Given the description of an element on the screen output the (x, y) to click on. 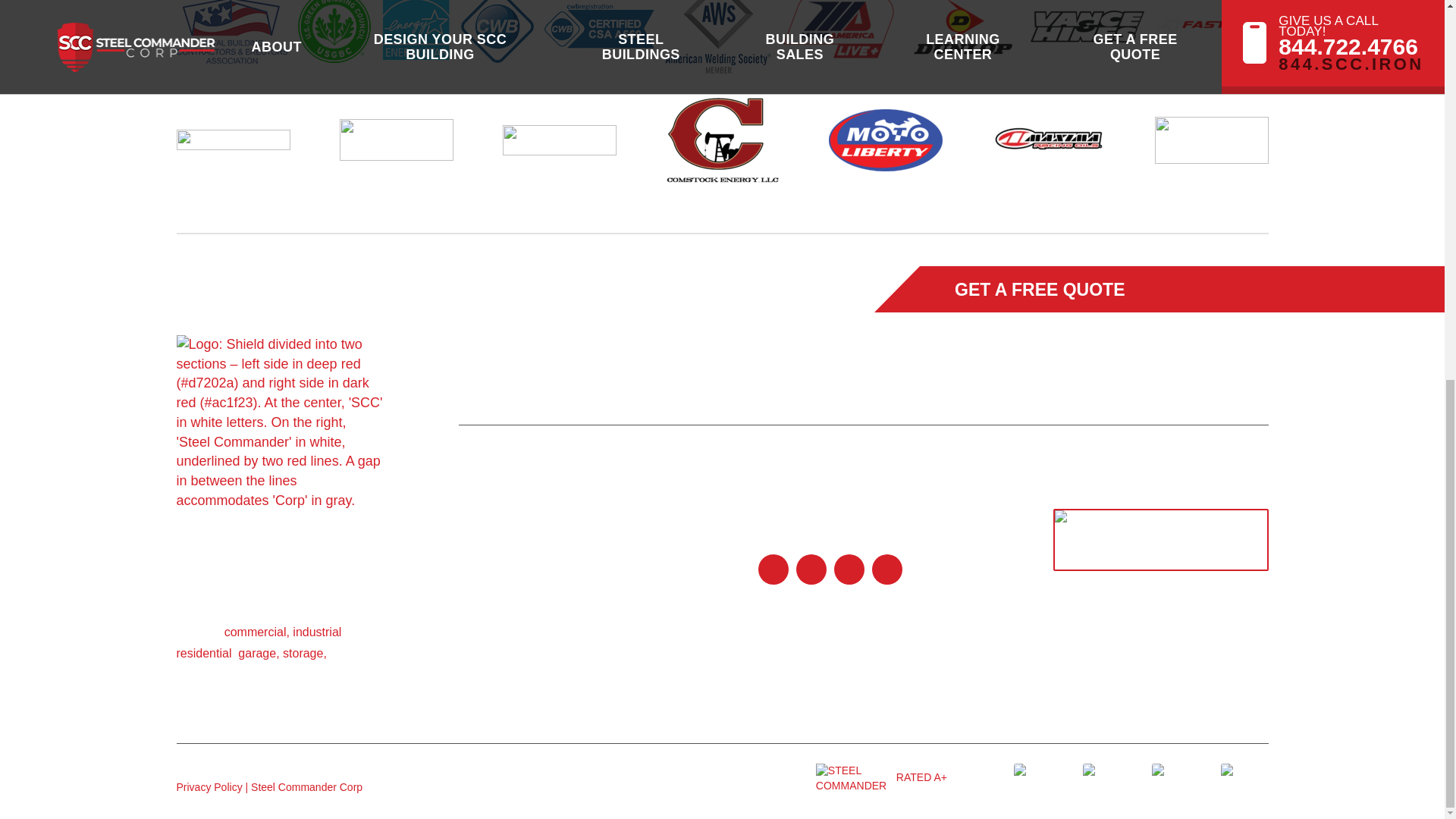
storage, (304, 653)
LEARNING CENTER (857, 338)
commercial, (256, 631)
residential (203, 653)
garage, (258, 653)
BLOG (566, 338)
STEEL BUILDINGS (688, 338)
GET A FREE QUOTE (1048, 289)
industrial (316, 631)
REQUEST A QUOTE (1210, 338)
